Given the description of an element on the screen output the (x, y) to click on. 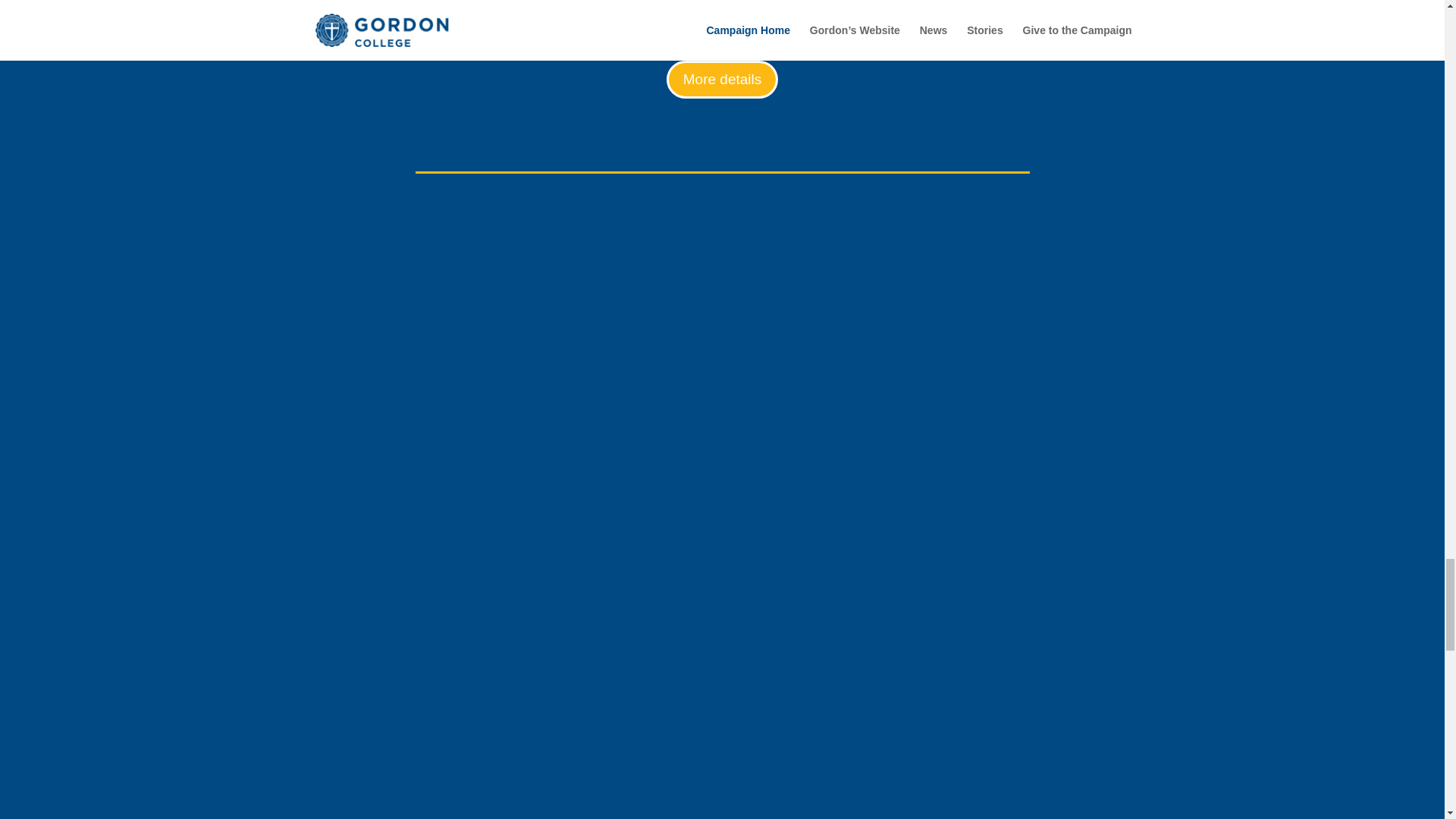
More details (722, 79)
